Given the description of an element on the screen output the (x, y) to click on. 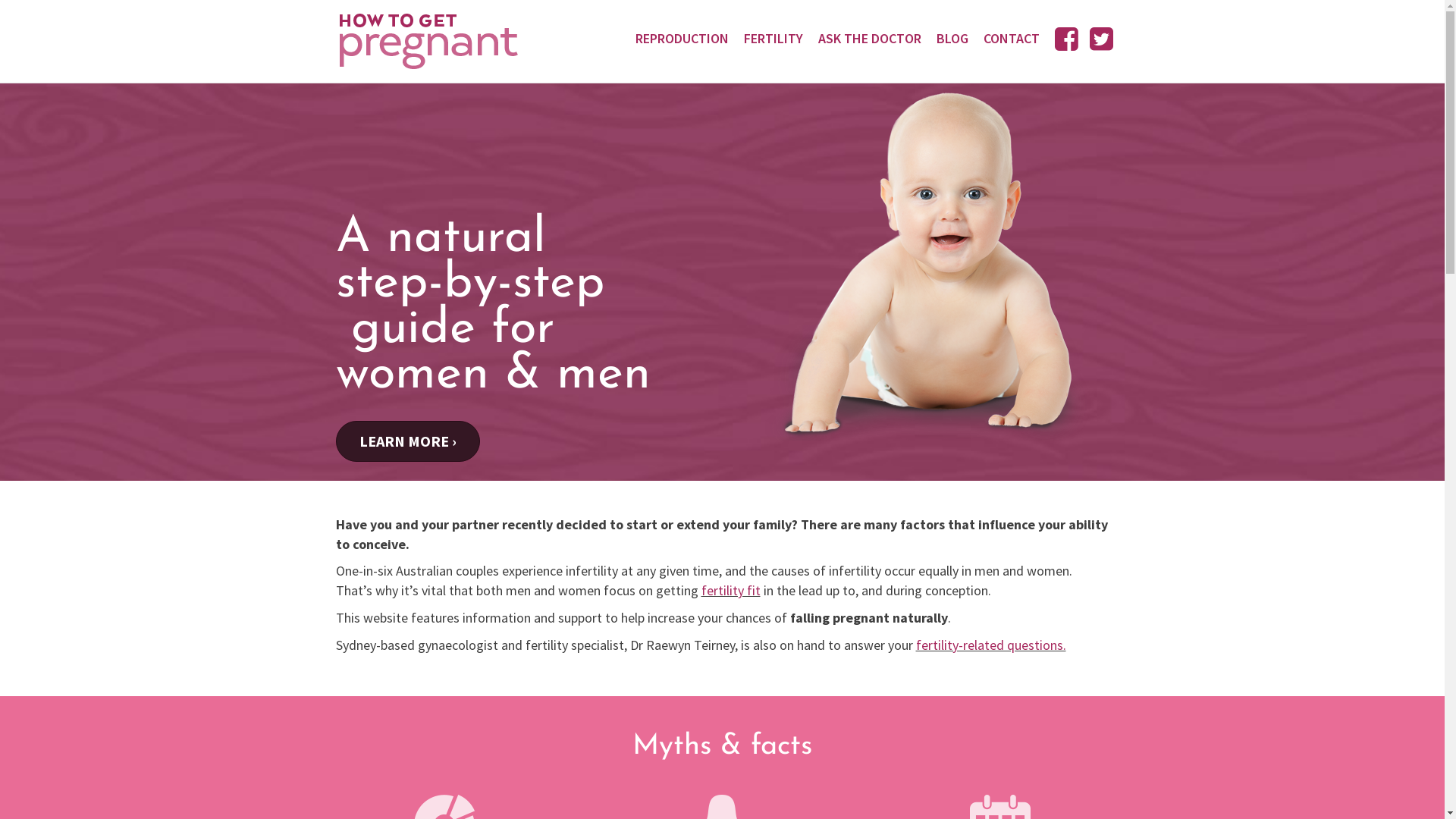
fertility-related questions. Element type: text (991, 644)
fertility fit Element type: text (729, 590)
CONTACT Element type: text (1011, 38)
FERTILITY Element type: text (773, 38)
ASK THE DOCTOR Element type: text (869, 38)
BLOG Element type: text (951, 38)
REPRODUCTION Element type: text (681, 38)
